Given the description of an element on the screen output the (x, y) to click on. 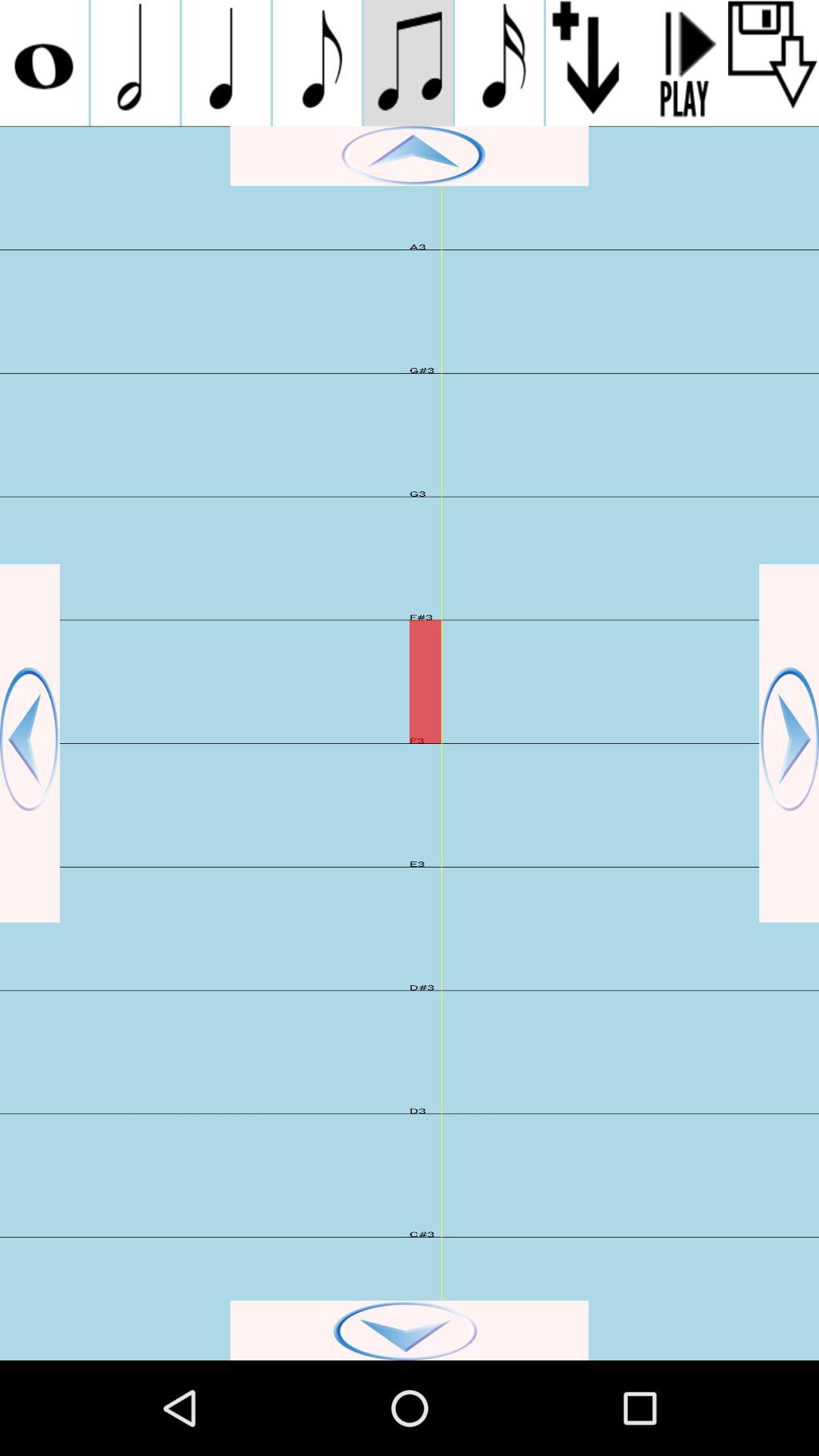
scroll down (409, 1330)
